Given the description of an element on the screen output the (x, y) to click on. 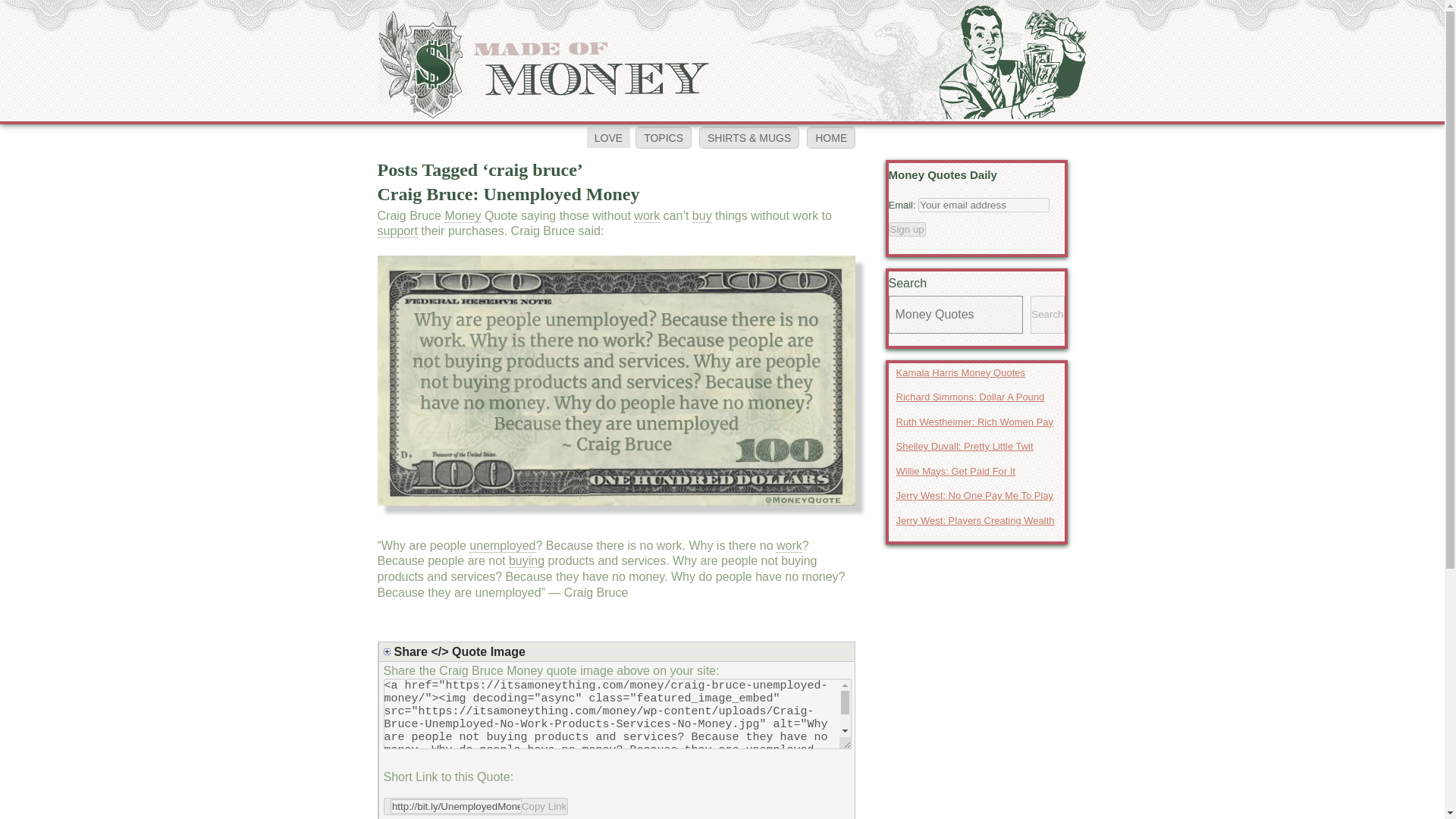
LOVE (608, 137)
support (397, 231)
TOPICS (662, 137)
work (646, 215)
unemployed (501, 545)
Expand (619, 651)
HOME (831, 137)
Craig Bruce: Unemployed Money (508, 193)
Sign up (907, 228)
Money (462, 215)
  Copy Link (476, 805)
work (789, 545)
buying (526, 561)
buy (702, 215)
Permanent link to Craig Bruce: Unemployed Money (508, 193)
